Given the description of an element on the screen output the (x, y) to click on. 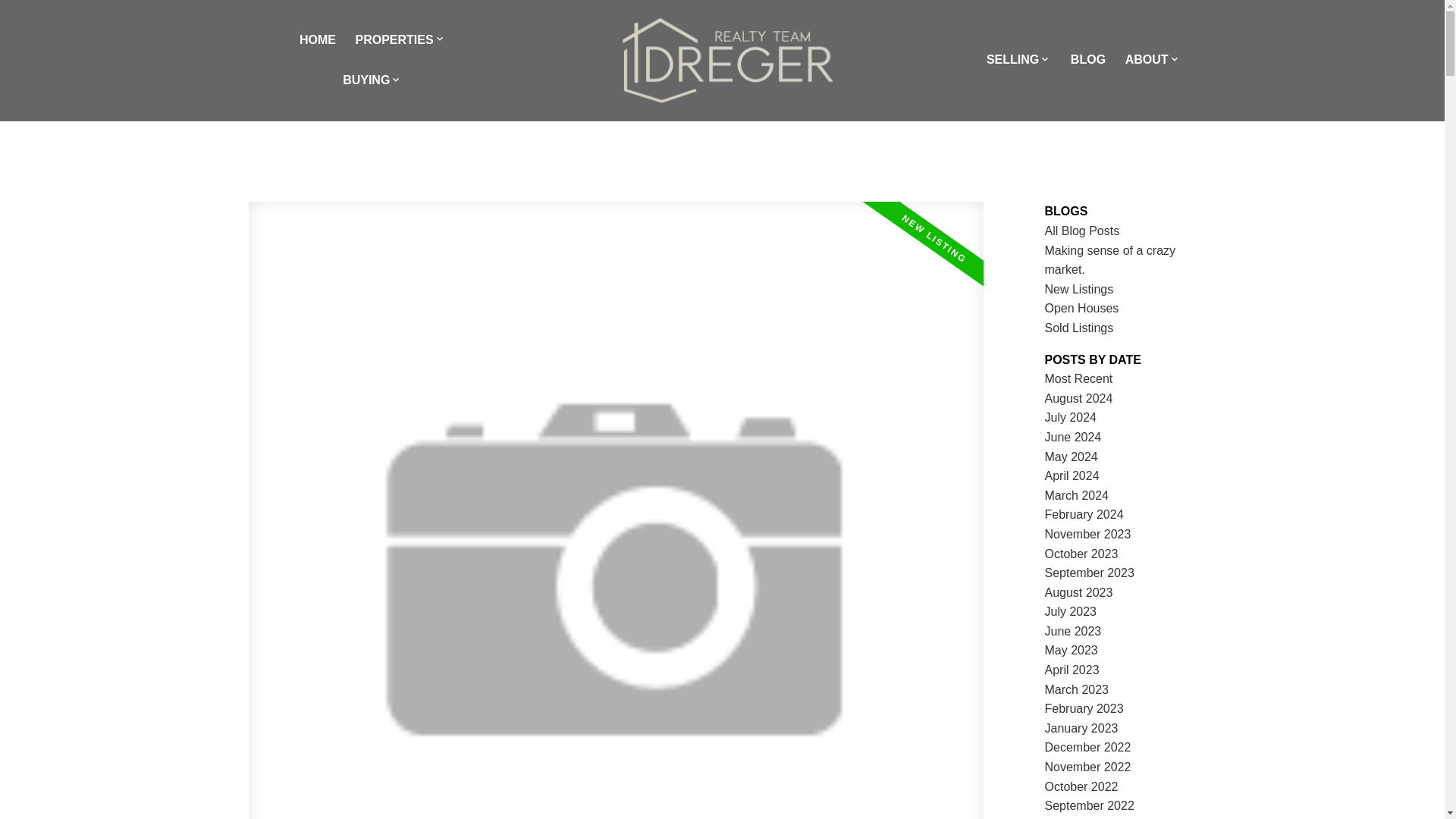
BLOG (1087, 60)
New Listings (1079, 288)
Making sense of a crazy market. (1110, 260)
HOME (317, 40)
All Blog Posts (1082, 230)
